Given the description of an element on the screen output the (x, y) to click on. 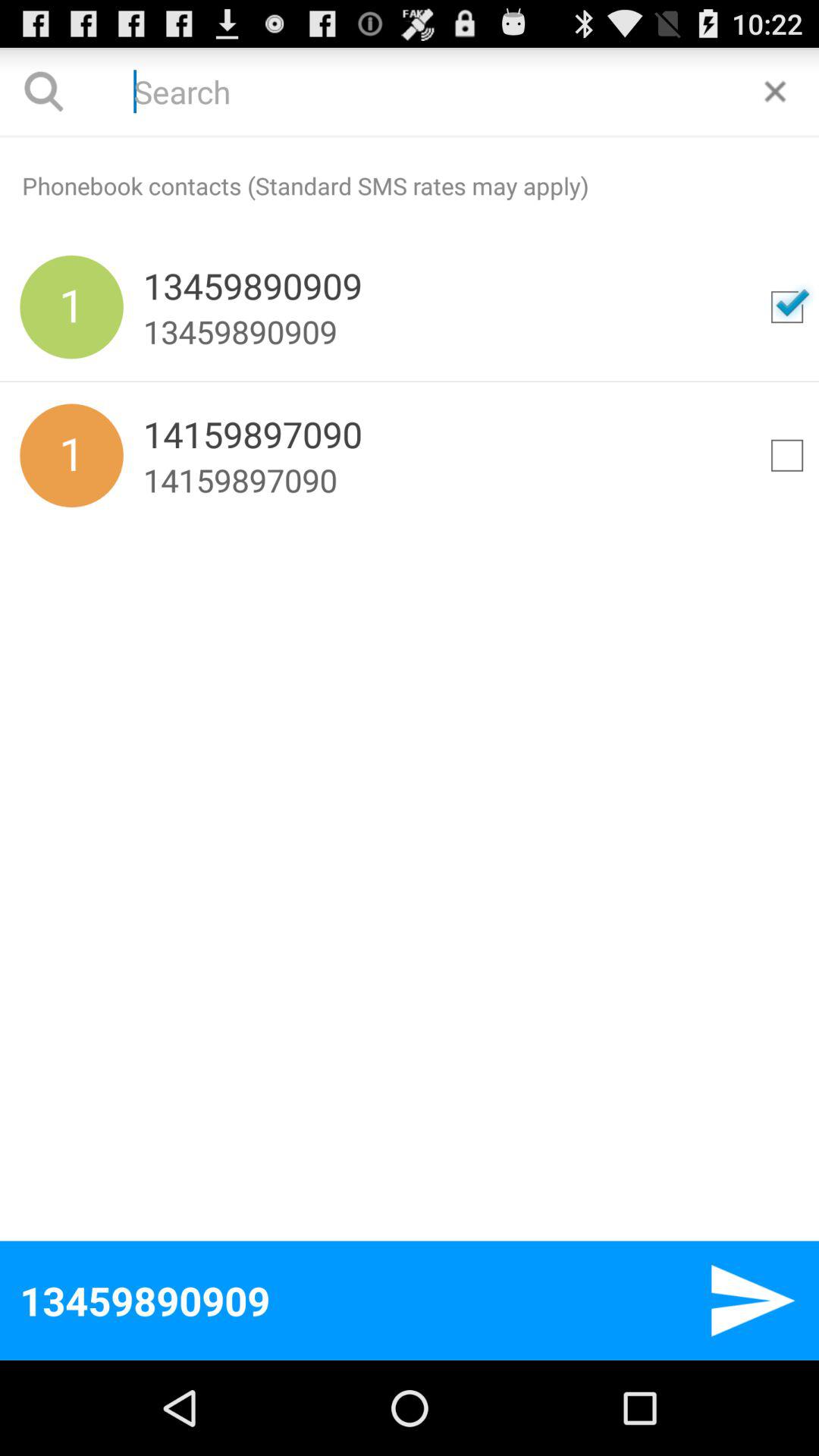
check or uncheck box (787, 306)
